Given the description of an element on the screen output the (x, y) to click on. 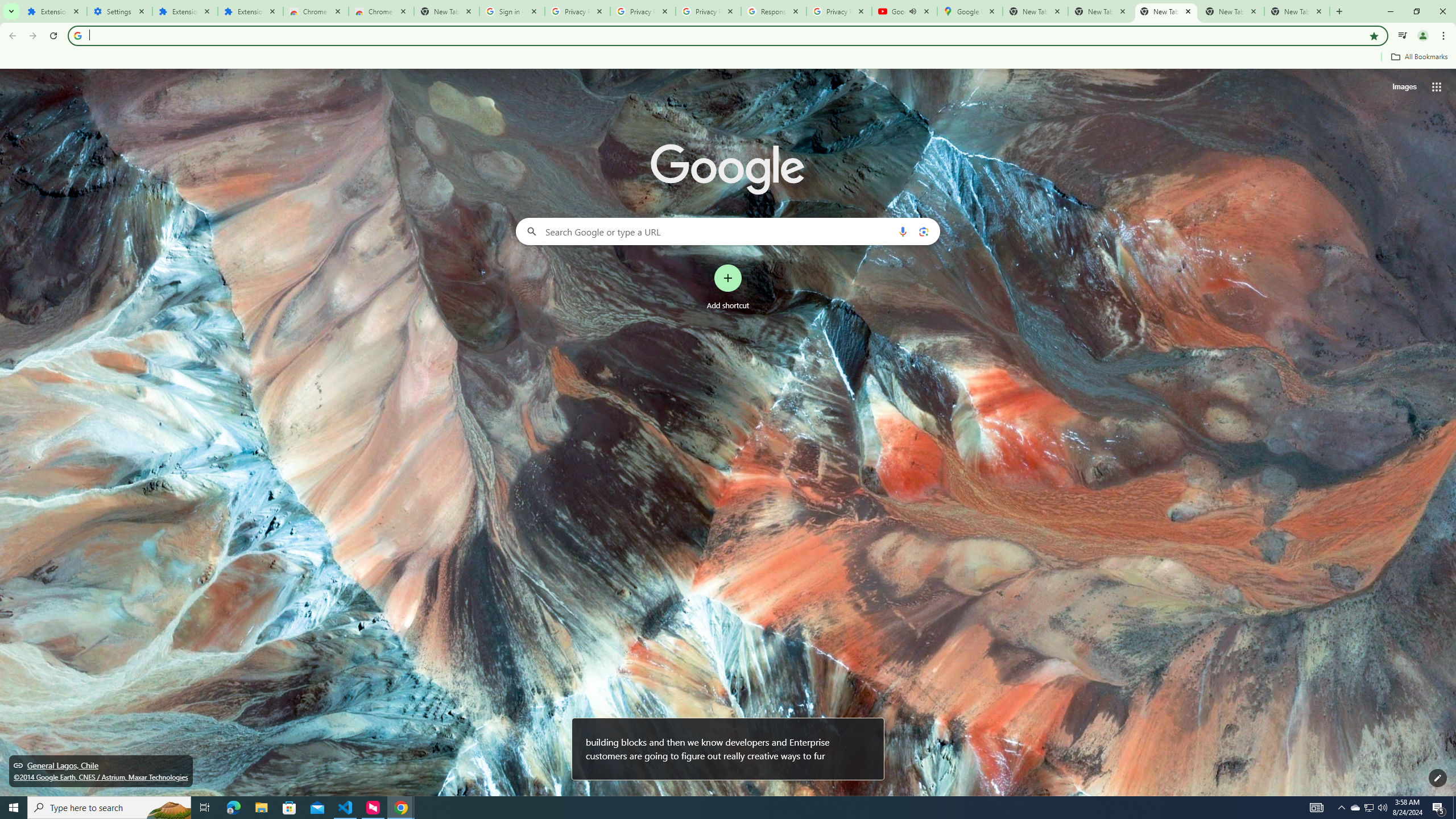
Search Google or type a URL (727, 230)
Extensions (184, 11)
New Tab (1297, 11)
Customize this page (1437, 778)
Add shortcut (727, 287)
Google Maps (969, 11)
Search by voice (902, 230)
